Given the description of an element on the screen output the (x, y) to click on. 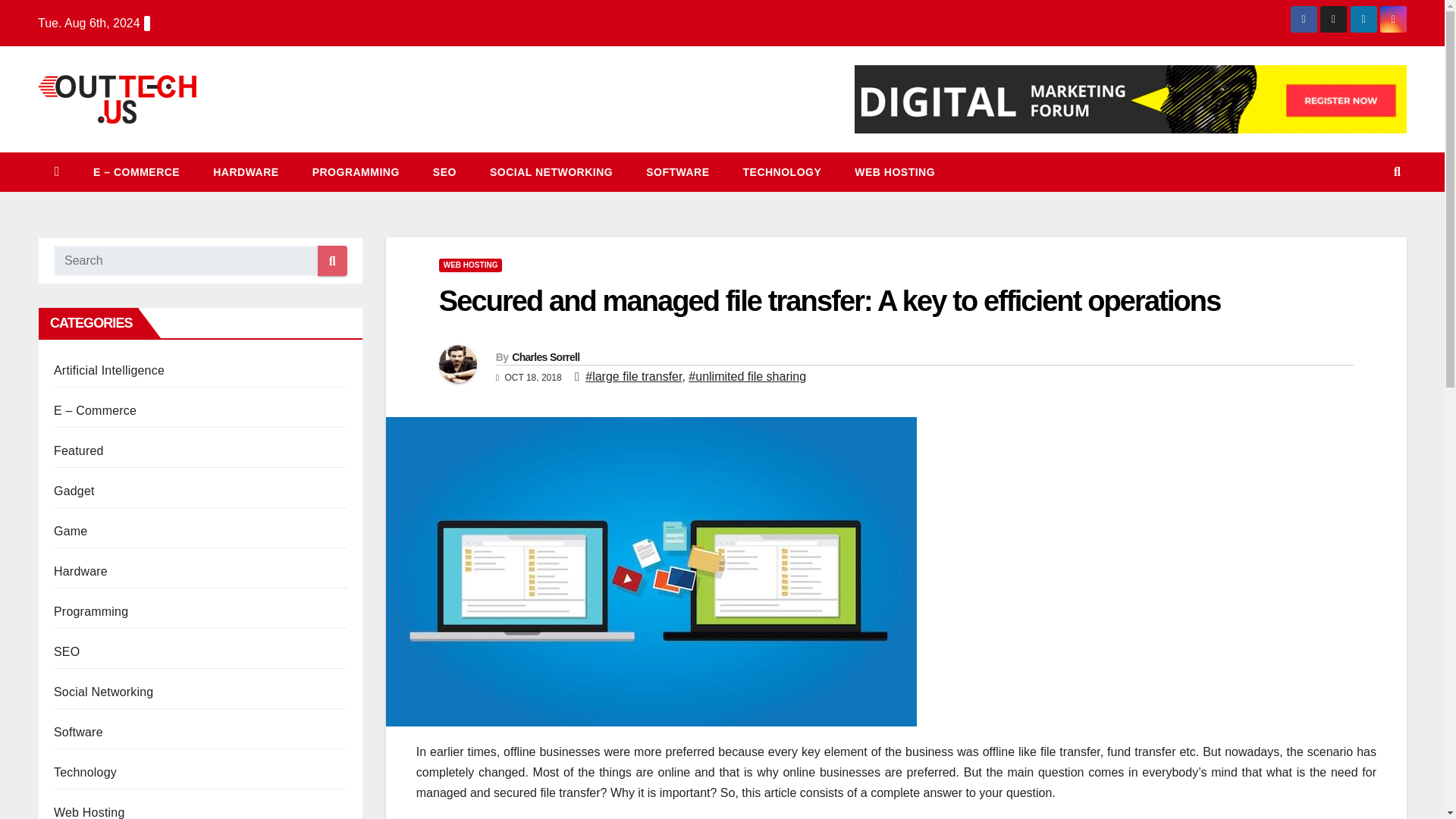
Social Networking (550, 171)
Software (78, 731)
WEB HOSTING (470, 264)
Charles Sorrell (545, 357)
SEO (444, 171)
Programming (355, 171)
Software (676, 171)
Game (70, 530)
Hardware (245, 171)
WEB HOSTING (895, 171)
